Given the description of an element on the screen output the (x, y) to click on. 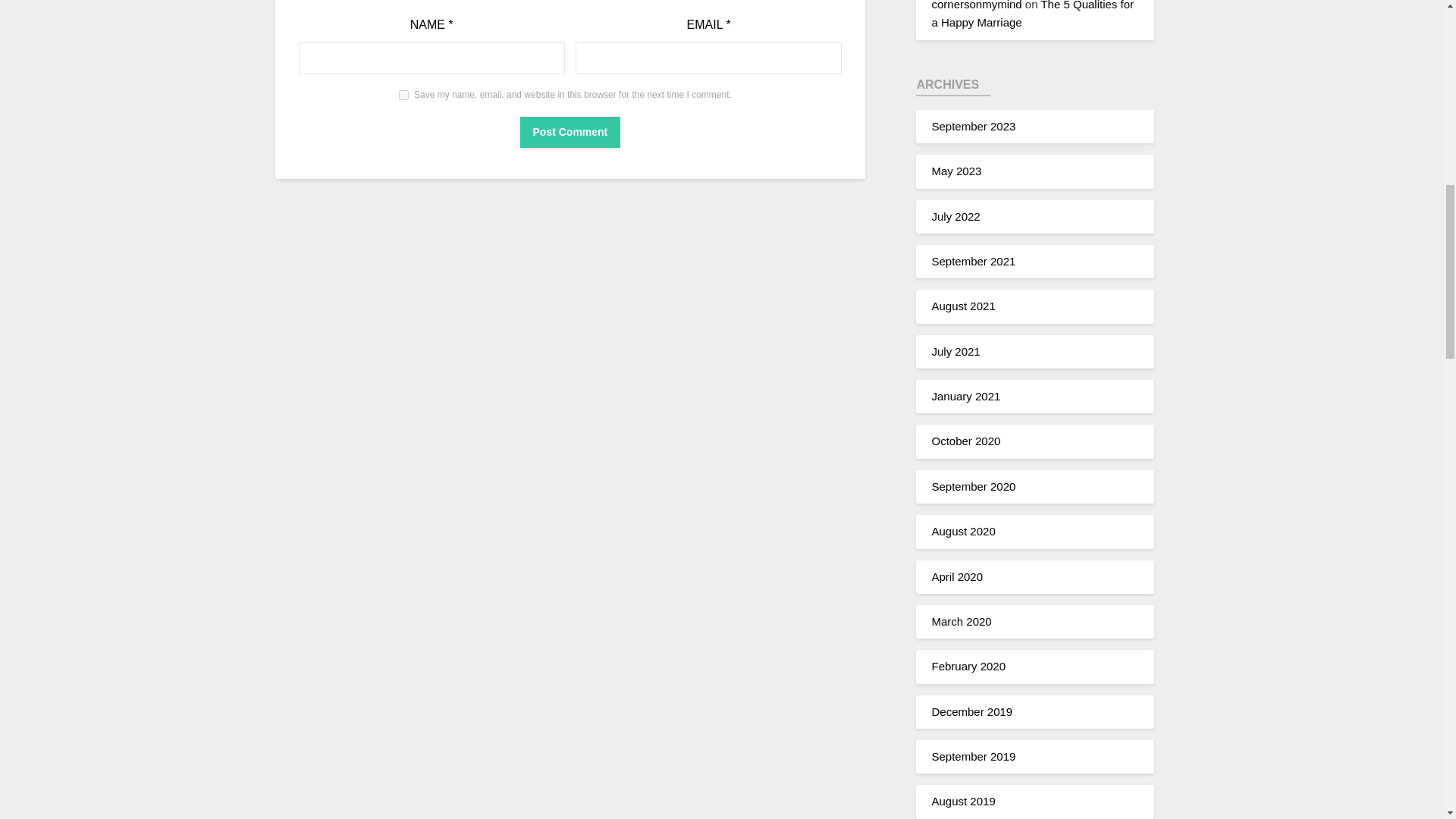
cornersonmymind (976, 5)
September 2021 (972, 260)
March 2020 (961, 621)
Post Comment (570, 132)
September 2023 (972, 125)
The 5 Qualities for a Happy Marriage (1032, 14)
Post Comment (570, 132)
yes (403, 94)
July 2022 (955, 215)
February 2020 (968, 666)
